Given the description of an element on the screen output the (x, y) to click on. 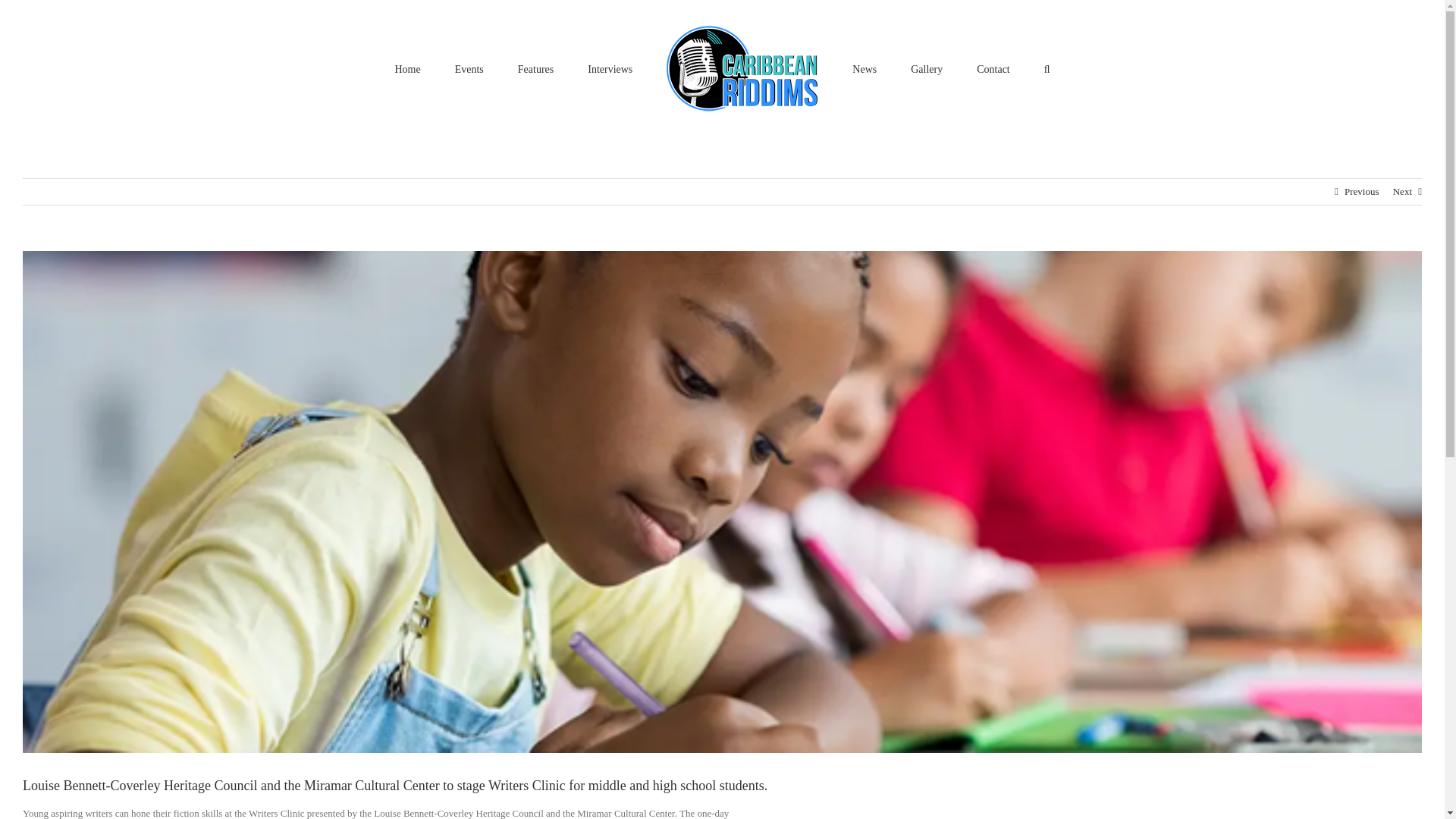
Previous (1360, 191)
